Given the description of an element on the screen output the (x, y) to click on. 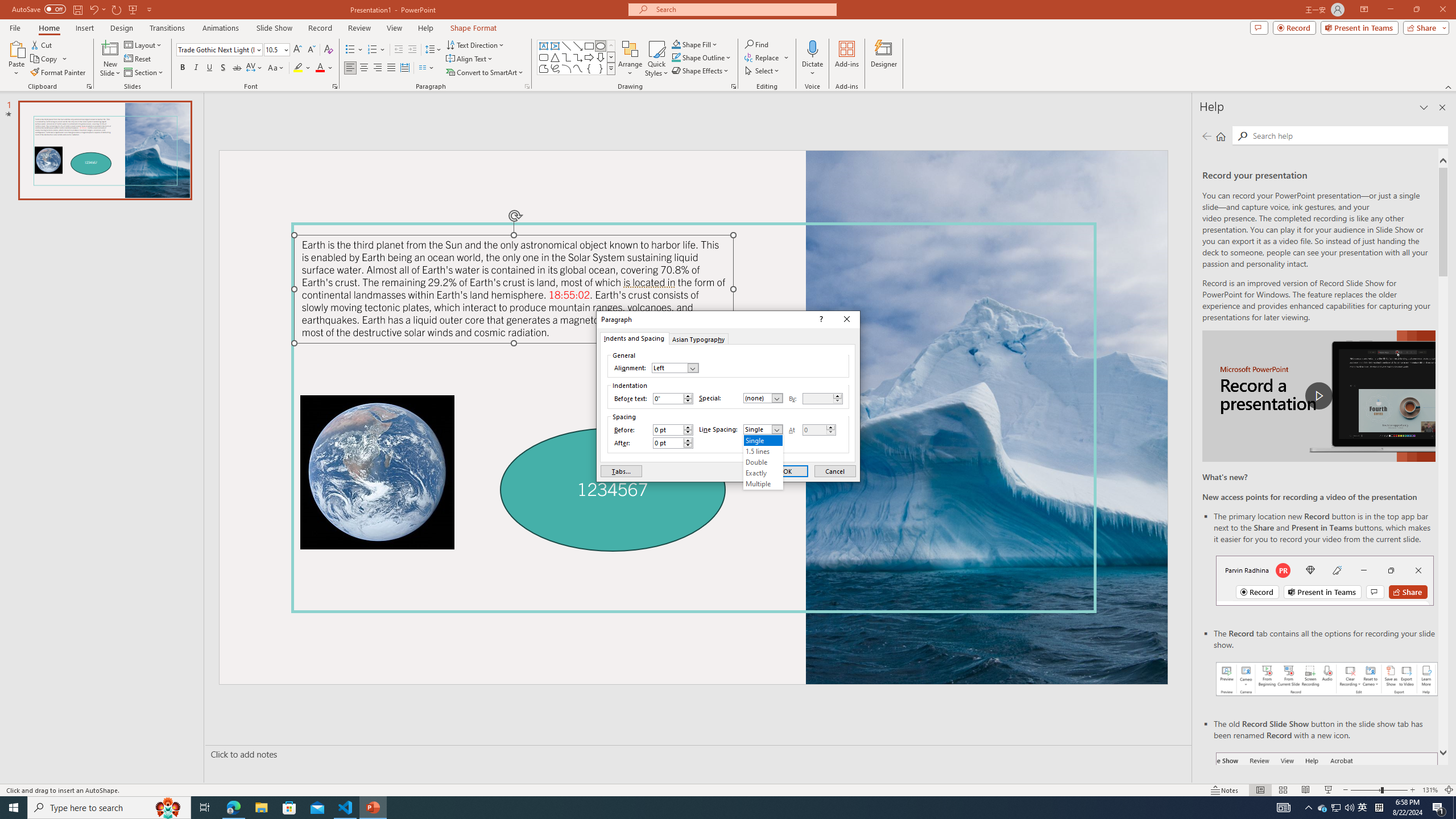
Previous page (1206, 136)
